Given the description of an element on the screen output the (x, y) to click on. 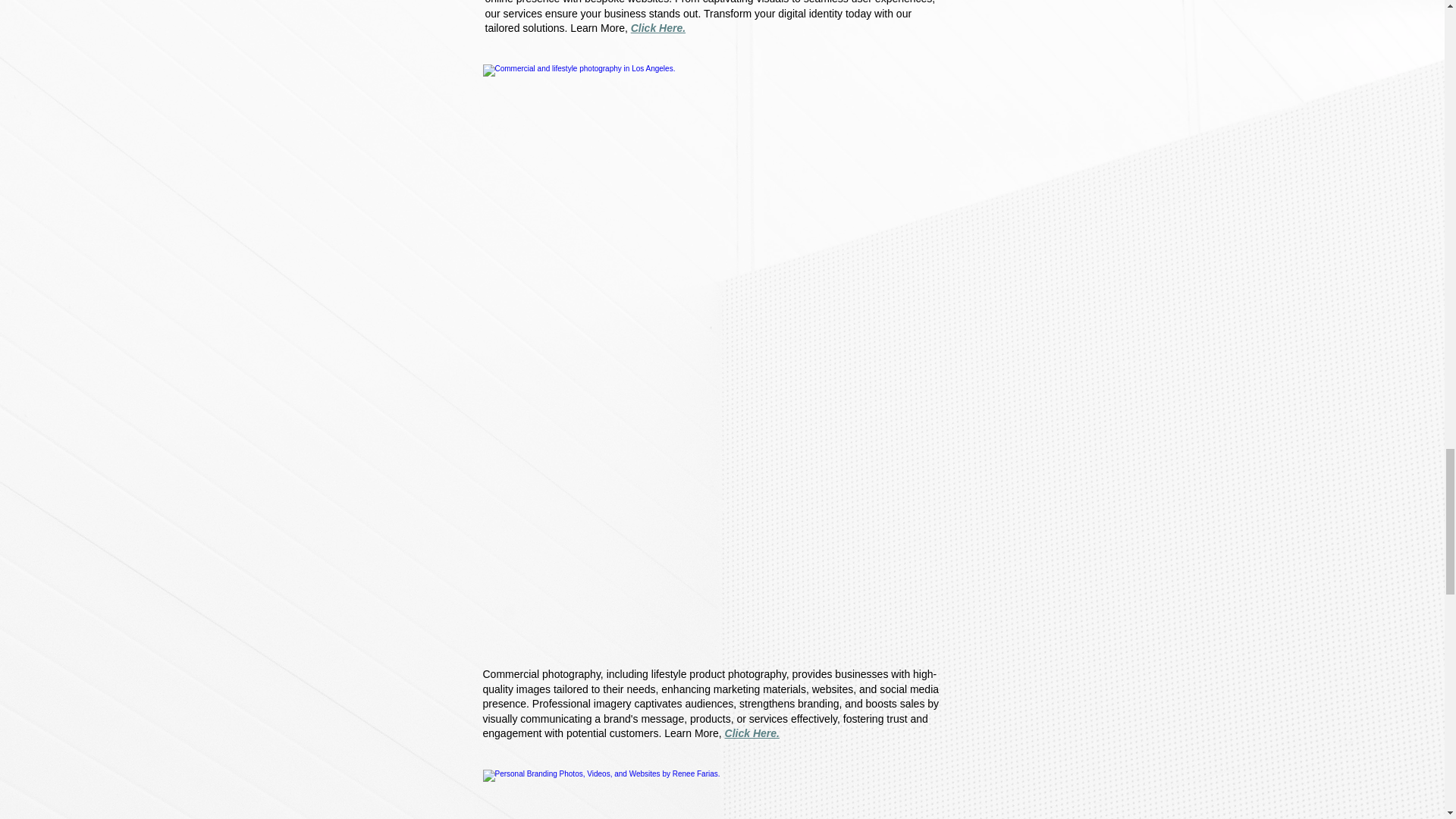
Click Here. (751, 733)
Click Here. (657, 28)
Personal Branding Visual Media Services in Los Angeles (710, 794)
